Given the description of an element on the screen output the (x, y) to click on. 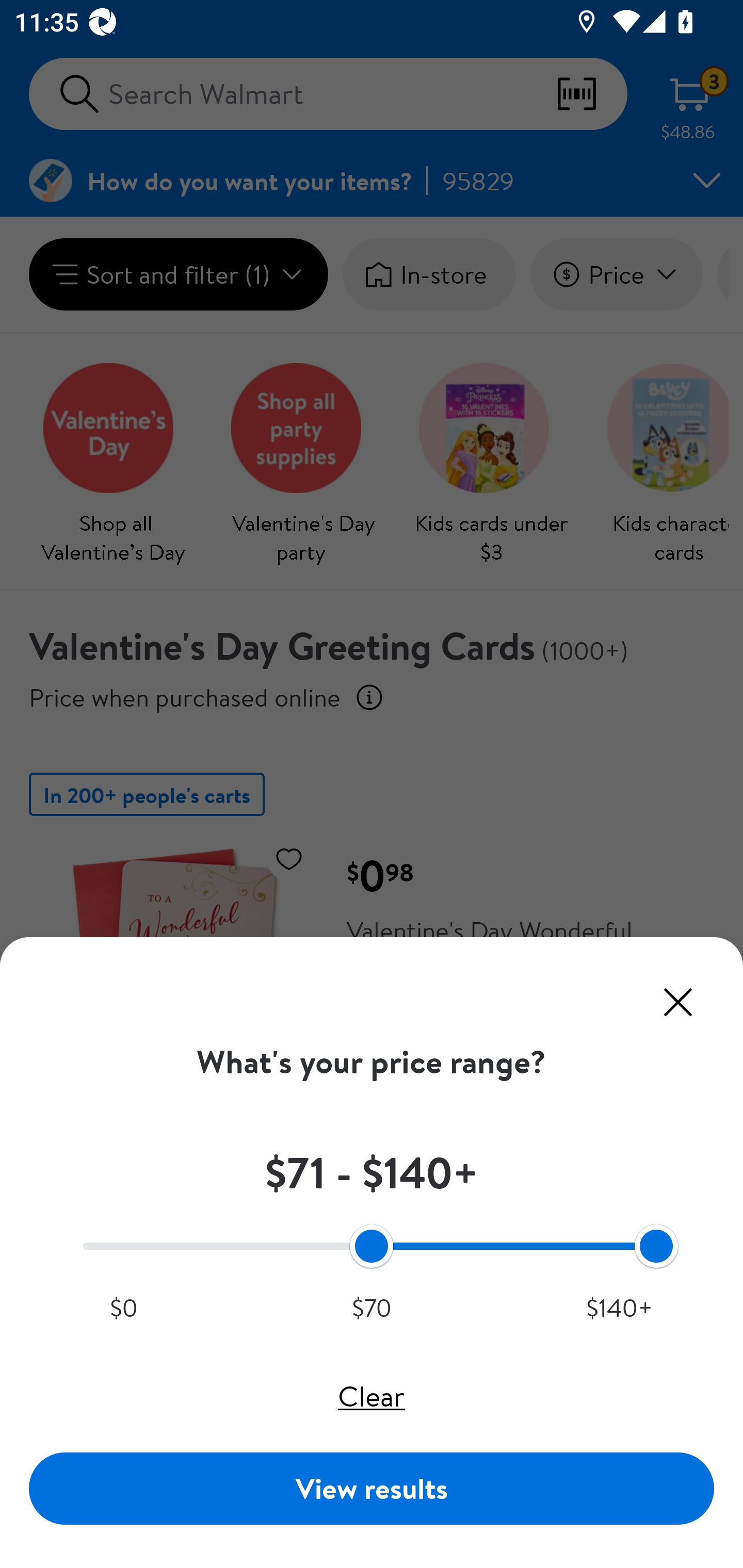
Close (677, 1001)
Range start,71 to 142 Range end,71 to 142 (371, 1245)
Clear (371, 1395)
View results (371, 1487)
